Given the description of an element on the screen output the (x, y) to click on. 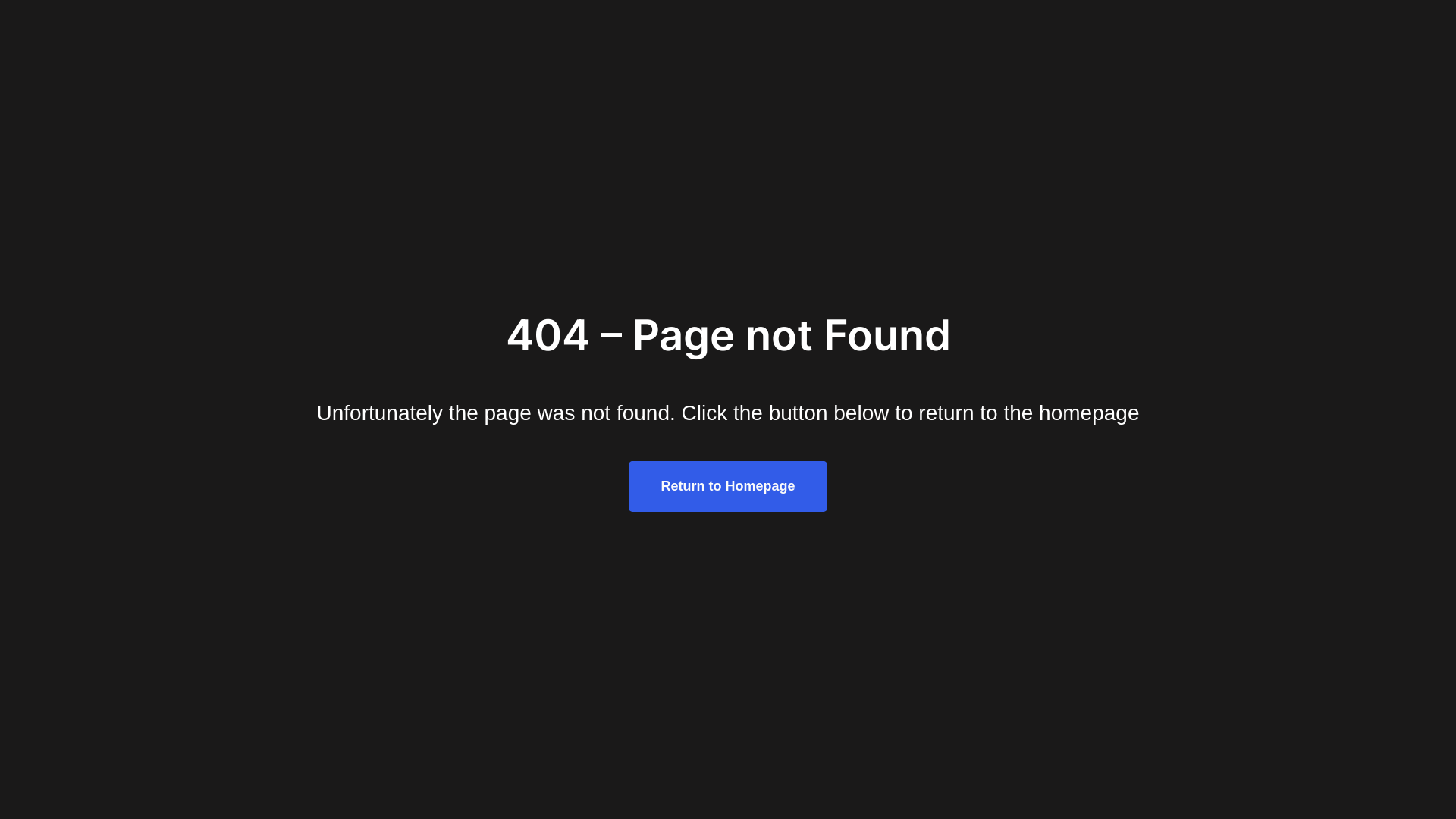
Return to Homepage Element type: text (727, 486)
